Given the description of an element on the screen output the (x, y) to click on. 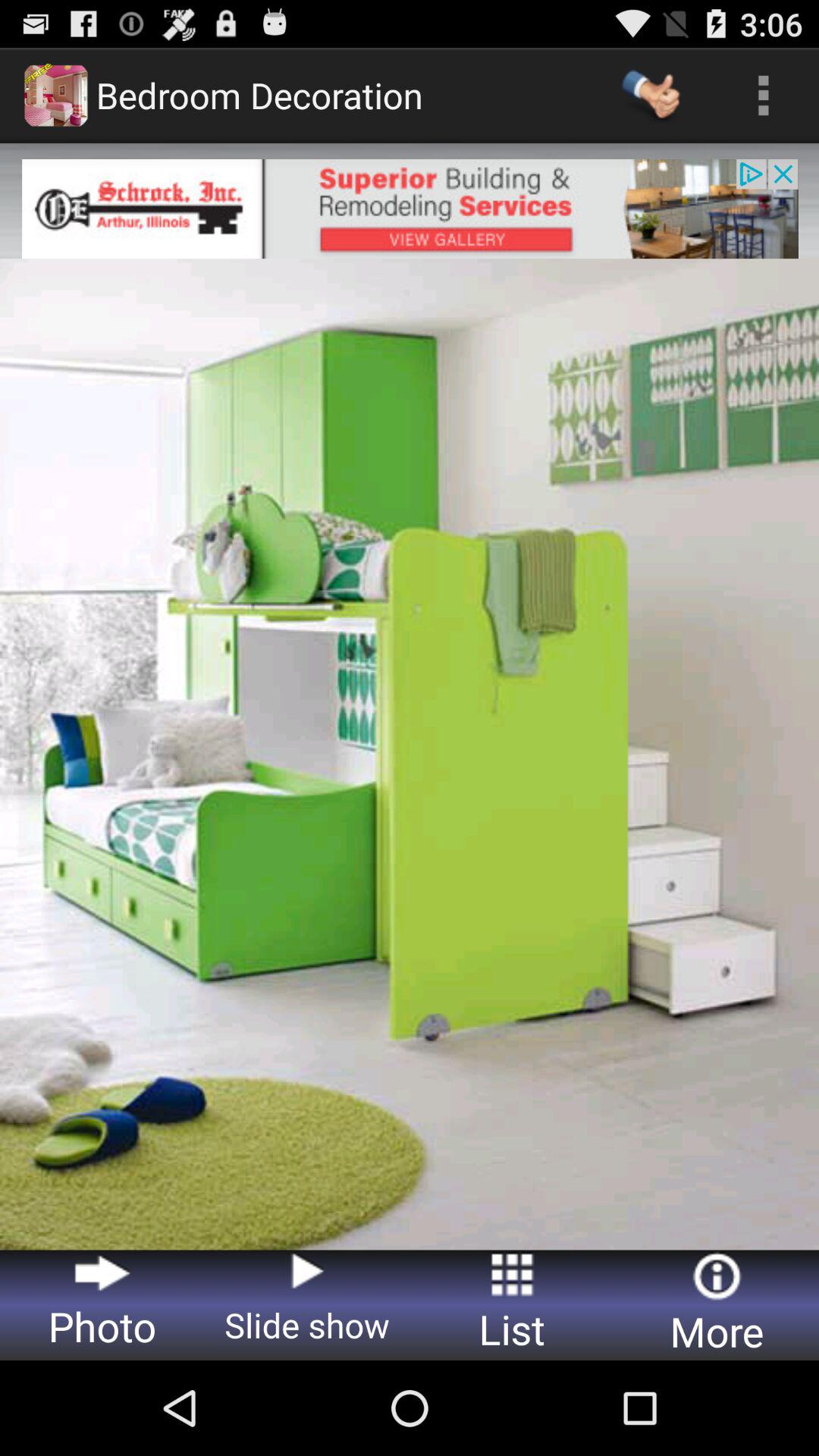
advertisement (409, 208)
